Given the description of an element on the screen output the (x, y) to click on. 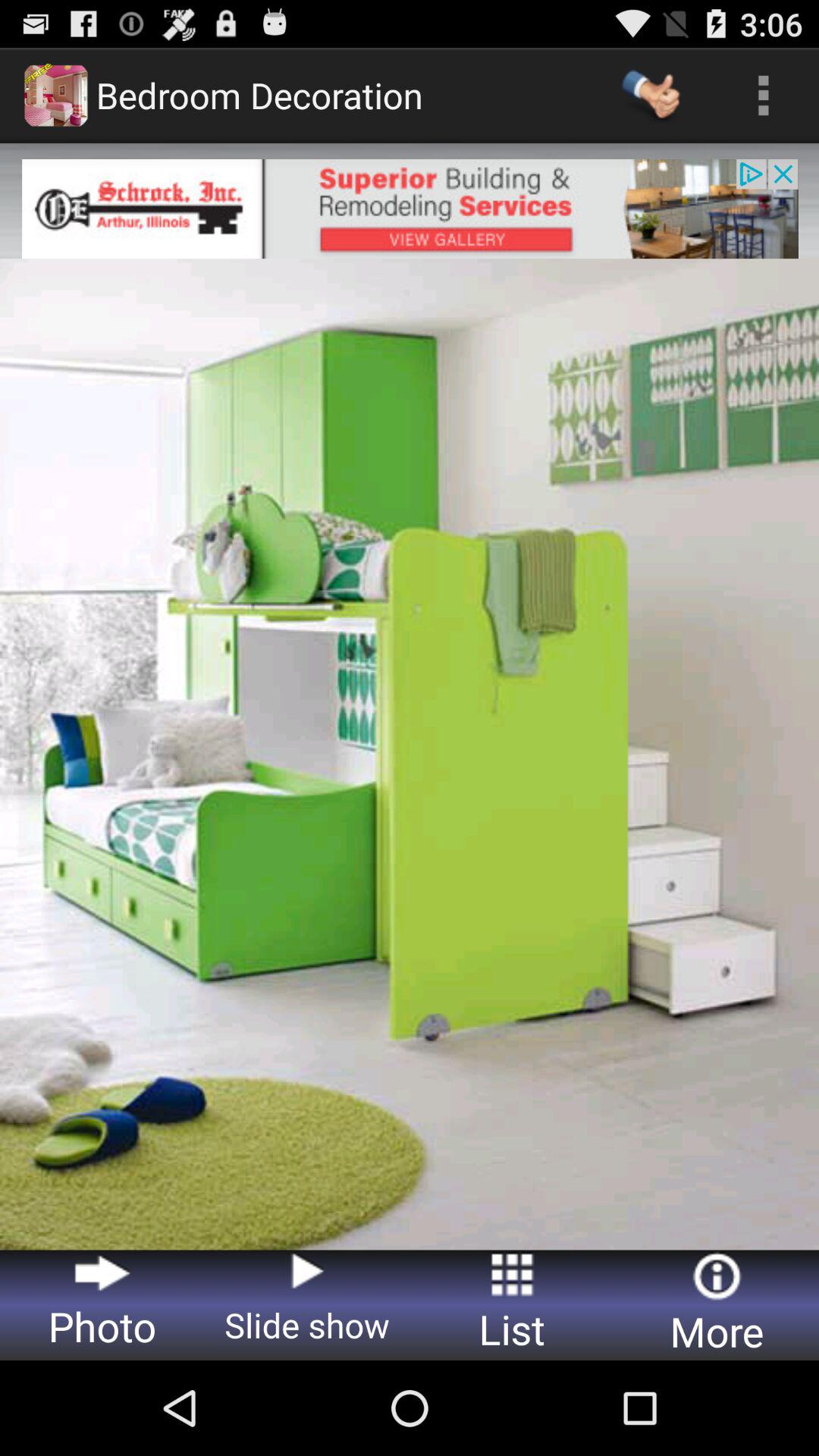
advertisement (409, 208)
